Given the description of an element on the screen output the (x, y) to click on. 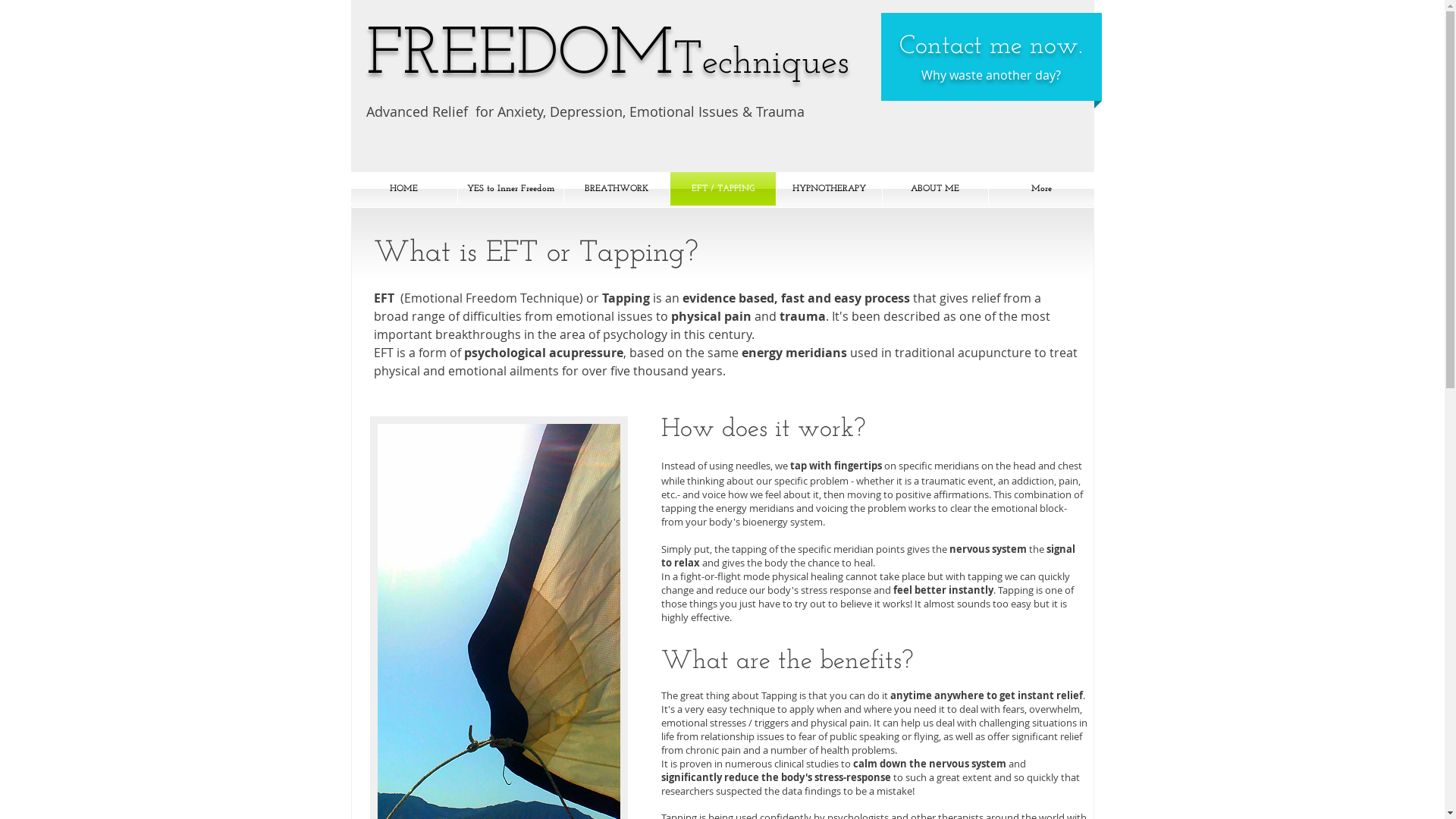
ABOUT ME Element type: text (935, 188)
HYPNOTHERAPY Element type: text (828, 188)
EFT / TAPPING Element type: text (722, 188)
Contact me now. Element type: text (990, 46)
BREATHWORK Element type: text (616, 188)
HOME Element type: text (403, 188)
YES to Inner Freedom Element type: text (510, 188)
